Given the description of an element on the screen output the (x, y) to click on. 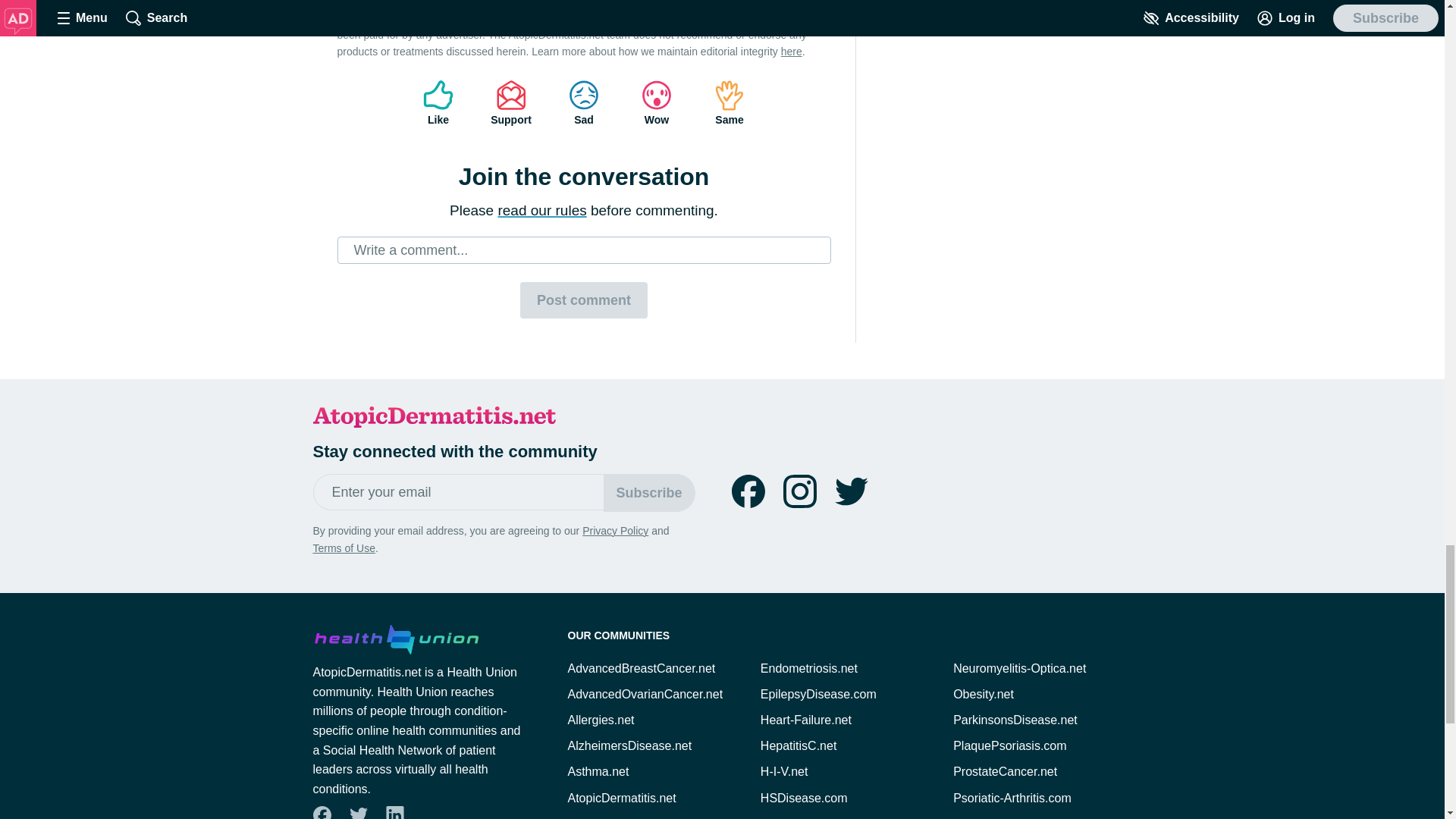
here (791, 51)
Follow us on twitter (850, 491)
Follow us on instagram (799, 491)
Like (437, 102)
Sad (583, 102)
 Write a comment...  (583, 249)
Privacy Policy (614, 530)
Subscribe (649, 492)
Same (729, 102)
read our rules (541, 210)
Follow us on facebook (747, 491)
Terms of Use (343, 548)
Follow us on twitter (850, 491)
Support (510, 102)
Wow (656, 102)
